Given the description of an element on the screen output the (x, y) to click on. 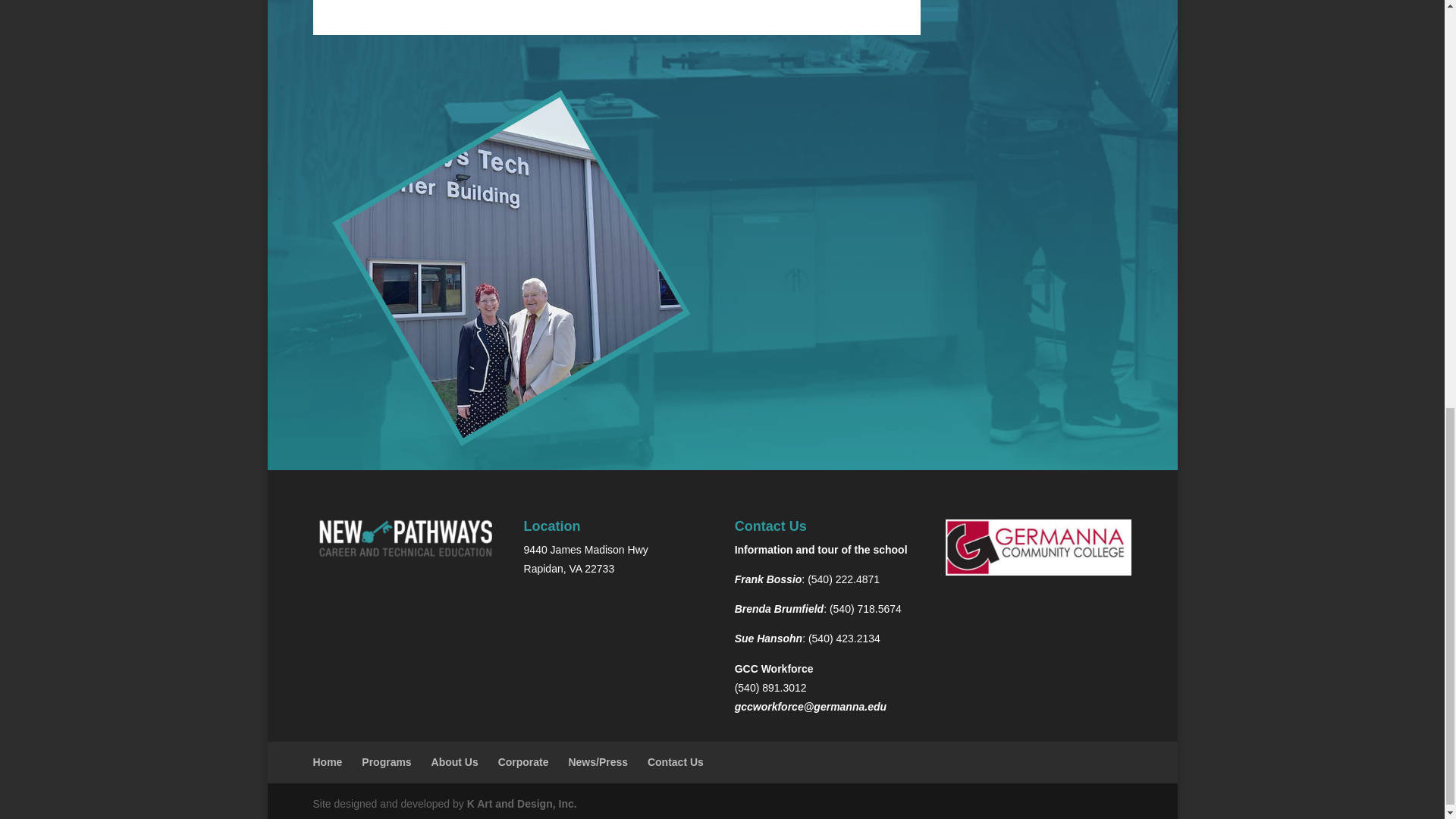
Corporate (522, 761)
About Us (454, 761)
Brenda Brumfield (779, 608)
Sue Hansohn (768, 638)
Home (327, 761)
Programs (385, 761)
Contact Us (675, 761)
Frank Bossio (768, 579)
K Art and Design, Inc. (521, 803)
